Given the description of an element on the screen output the (x, y) to click on. 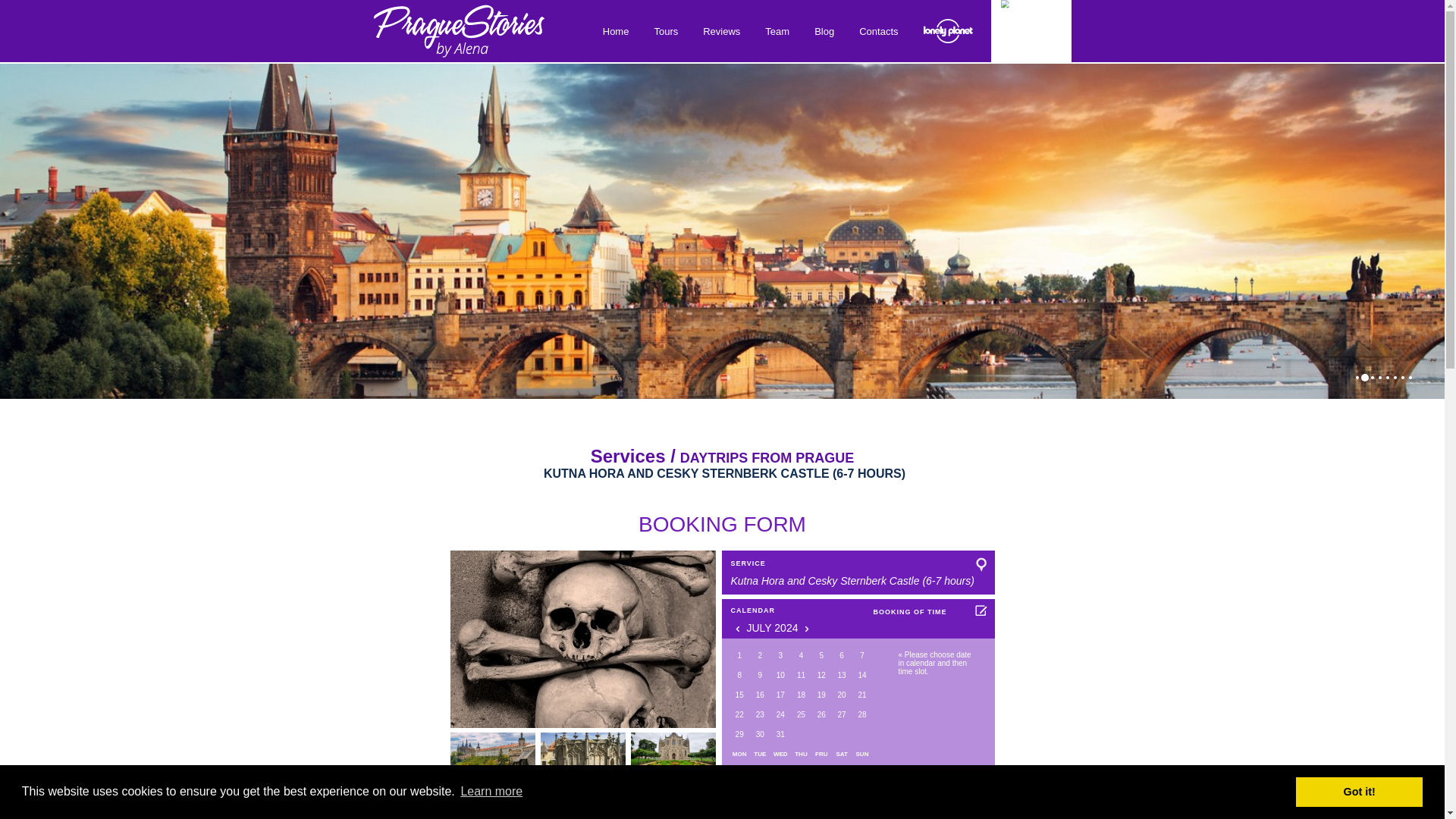
On Demand (760, 675)
On Demand (780, 695)
On Demand (780, 656)
On Demand (738, 675)
Reviews (721, 30)
On Demand (801, 695)
7 (860, 656)
10 (780, 675)
On Demand (760, 695)
Got it! (1358, 791)
8 (738, 675)
3 (780, 656)
5 (821, 656)
On Demand (801, 675)
2 (760, 656)
